Given the description of an element on the screen output the (x, y) to click on. 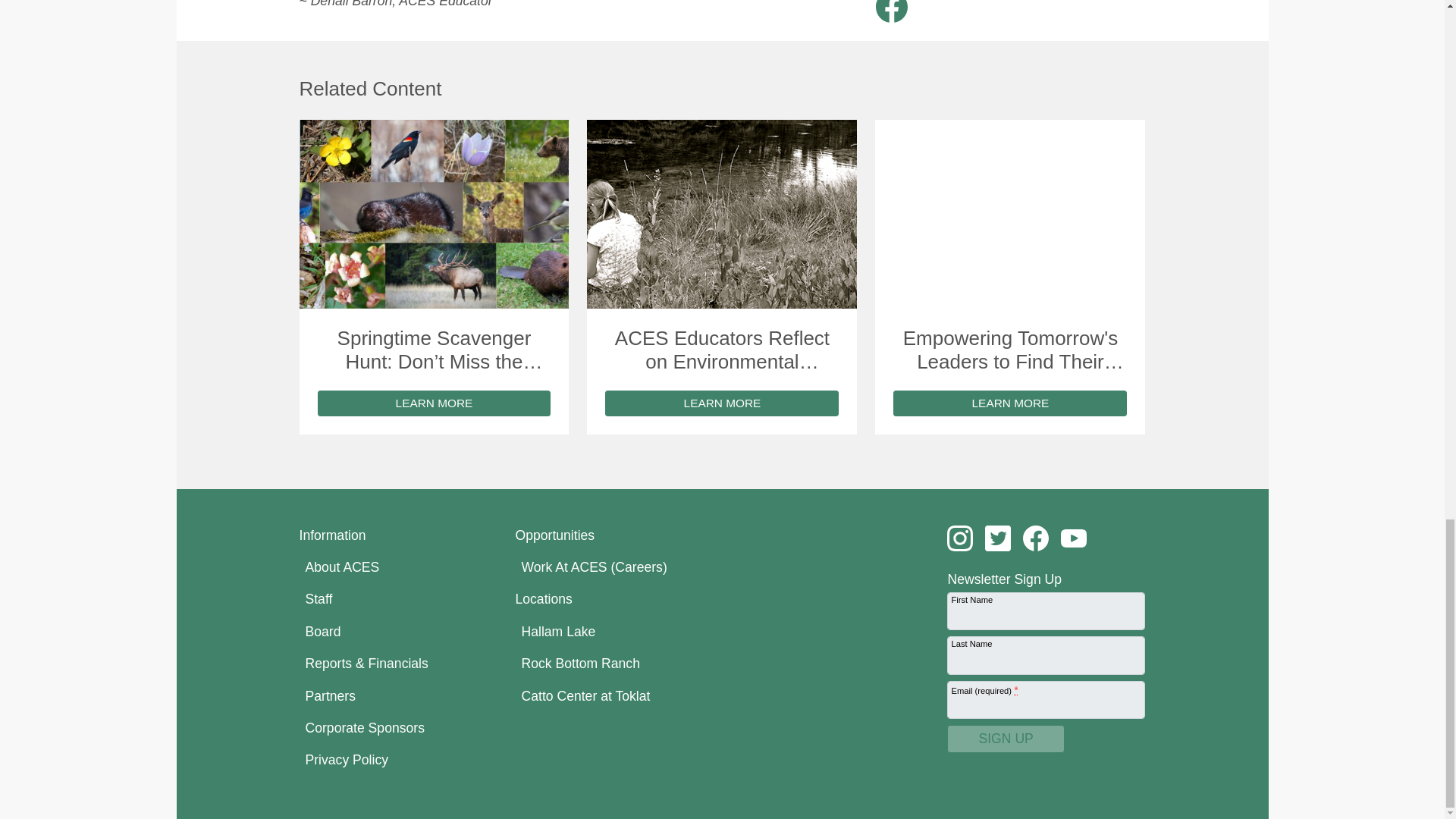
Sign up (1005, 738)
